Given the description of an element on the screen output the (x, y) to click on. 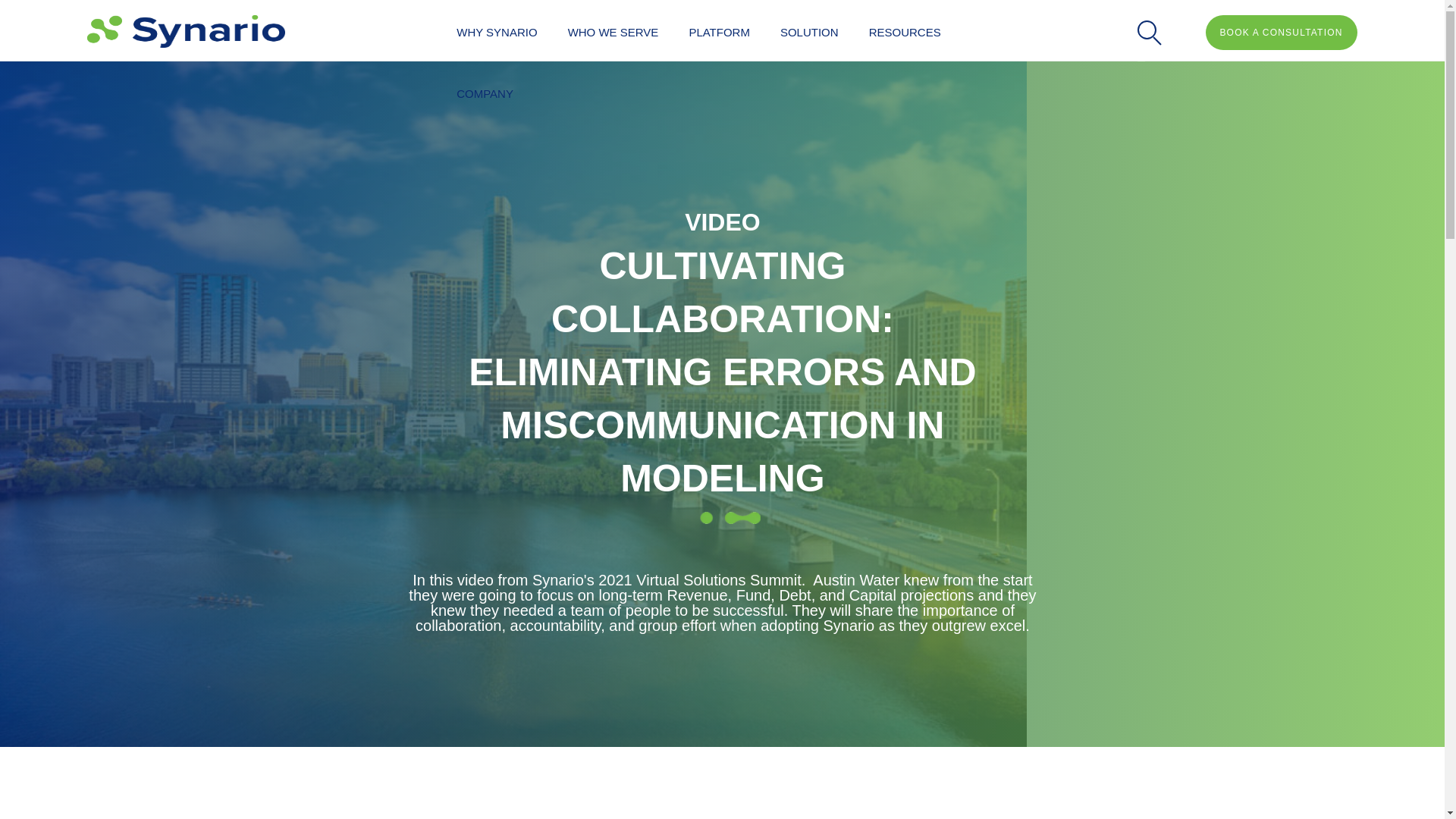
PLATFORM (718, 30)
SOLUTION (809, 30)
WHY SYNARIO (496, 30)
RESOURCES (904, 30)
COMPANY (484, 91)
WHO WE SERVE (613, 30)
